Given the description of an element on the screen output the (x, y) to click on. 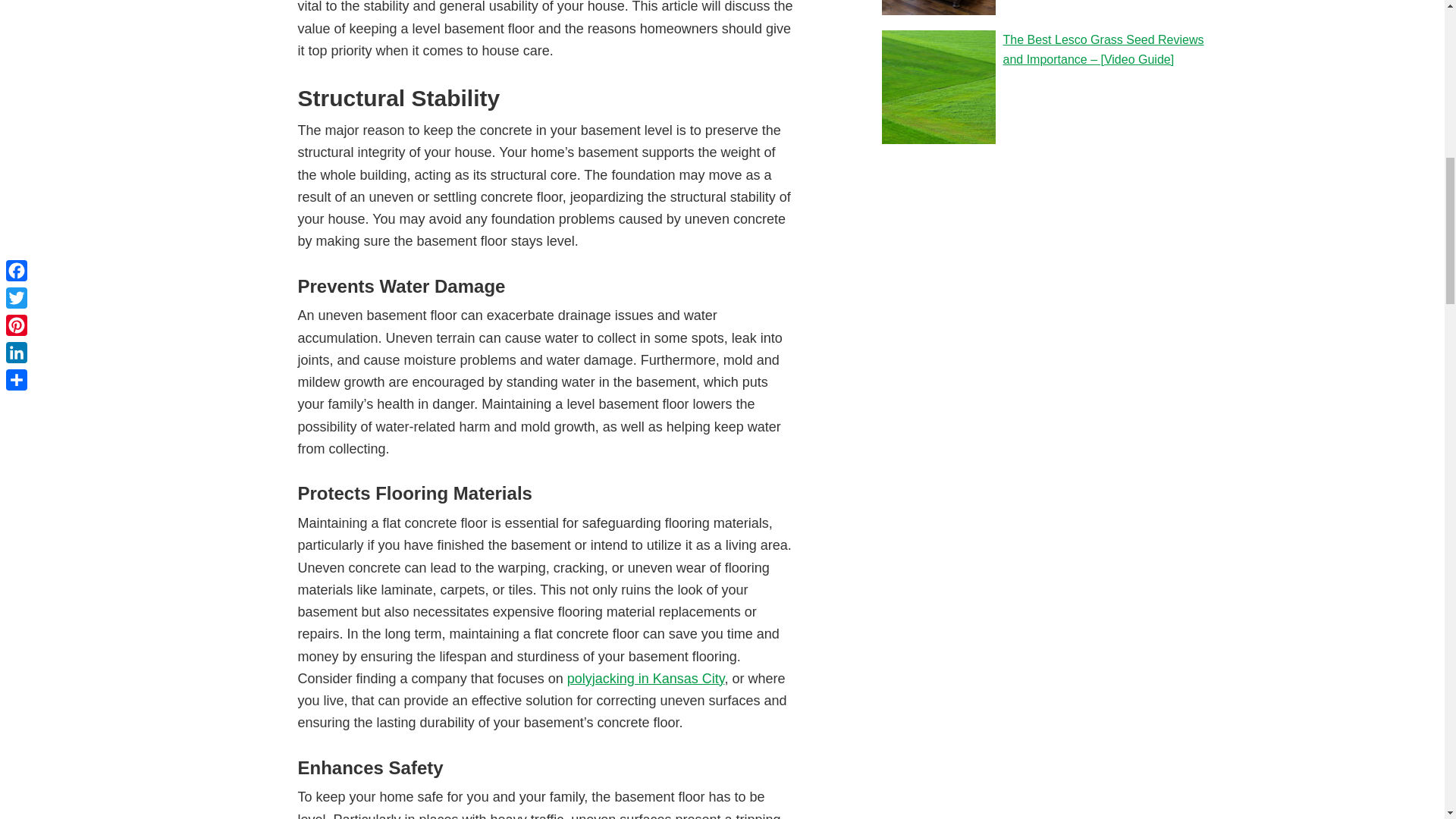
polyjacking in Kansas City (646, 678)
